Given the description of an element on the screen output the (x, y) to click on. 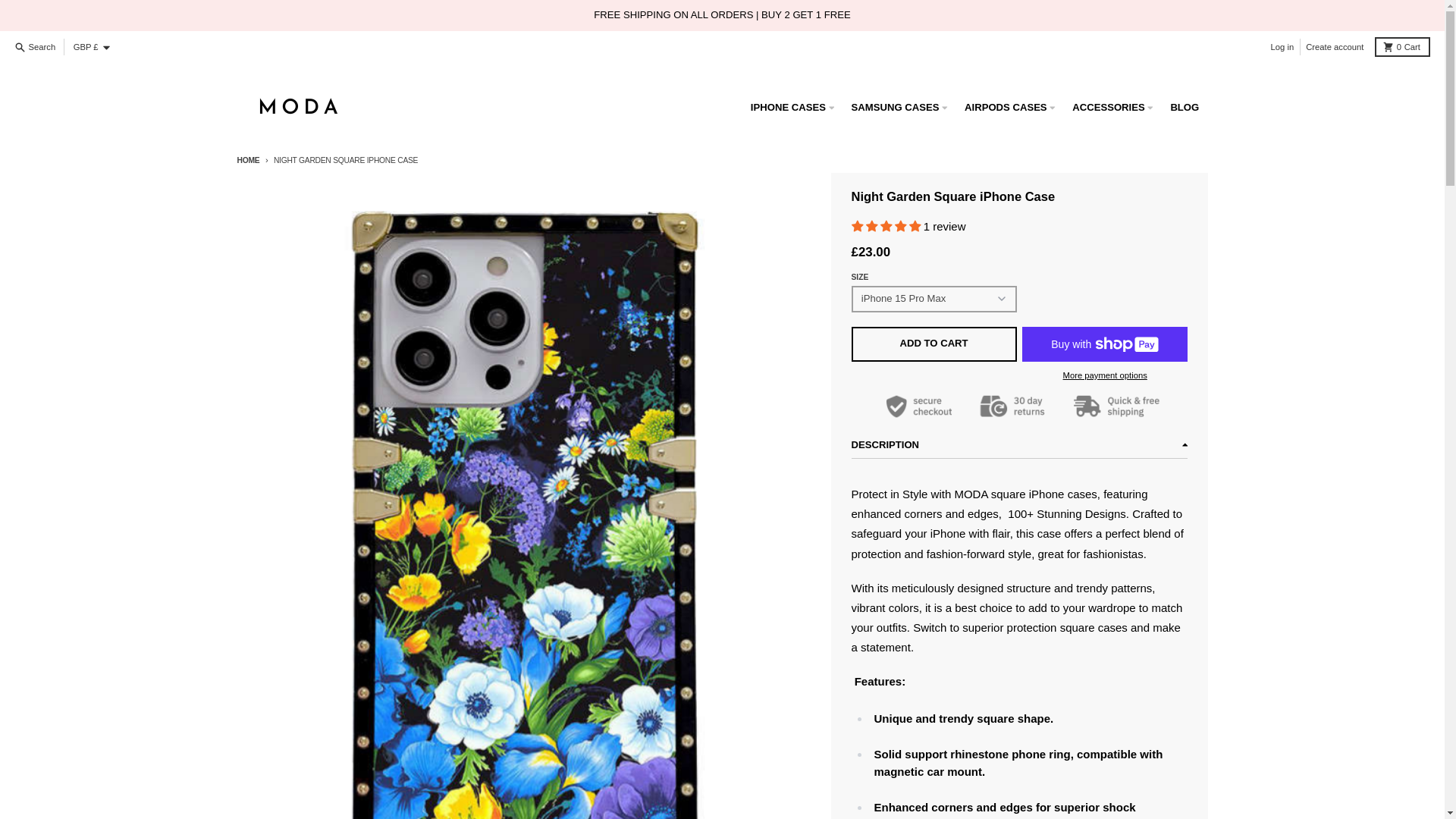
Search (36, 47)
Log in (1282, 47)
Create account (1335, 47)
Back to the homepage (247, 160)
